Given the description of an element on the screen output the (x, y) to click on. 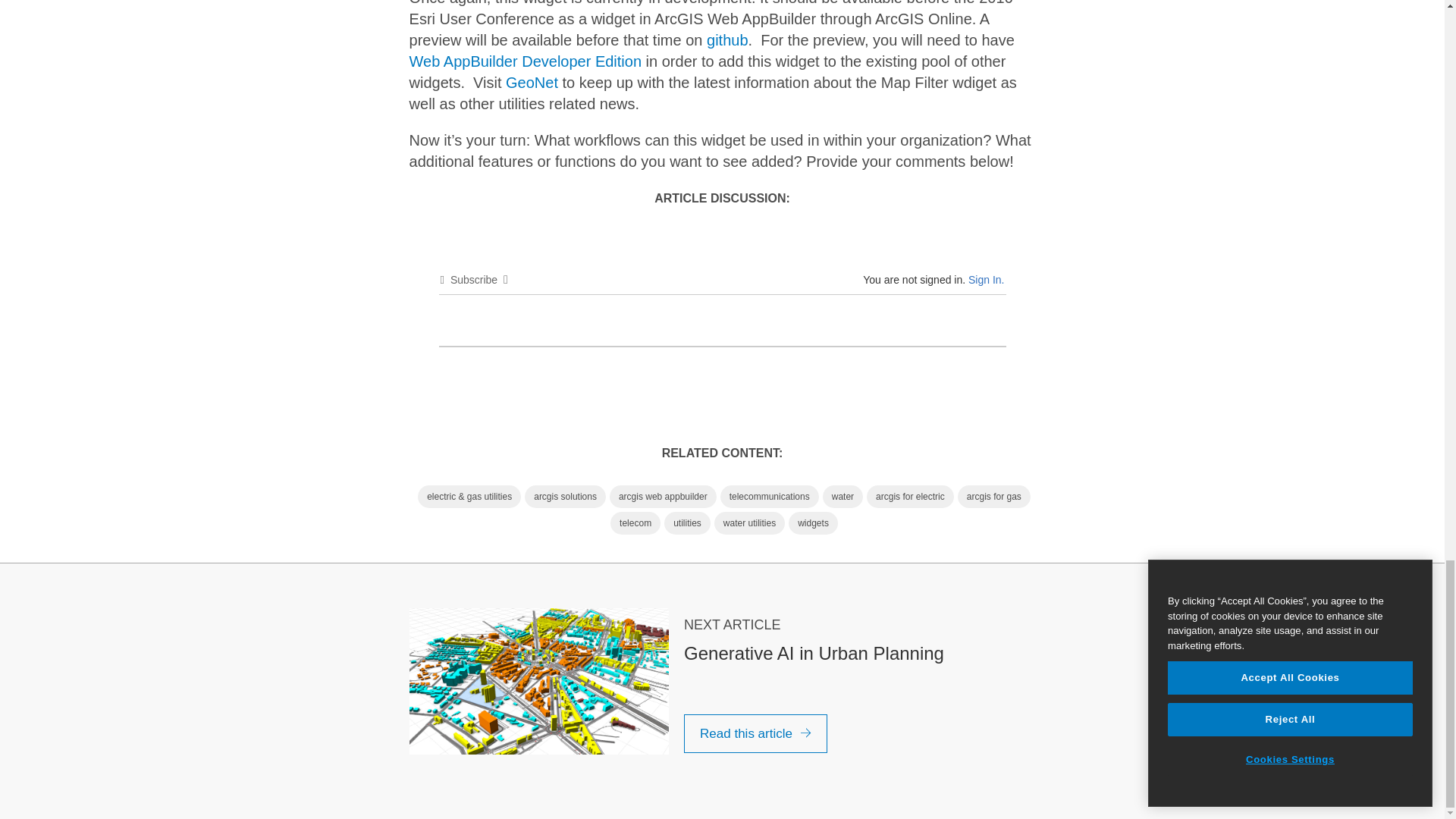
telecommunications (769, 496)
water (842, 496)
Sign In. (986, 279)
Web AppBuilder Dev Edition (525, 61)
arcgis for electric (909, 496)
GeoNet (531, 82)
utilities (686, 522)
arcgis web appbuilder (663, 496)
water utilities (749, 522)
widgets (813, 522)
github (727, 39)
Web AppBuilder Developer Edition (525, 61)
telecom (635, 522)
Github (727, 39)
arcgis solutions (564, 496)
